Given the description of an element on the screen output the (x, y) to click on. 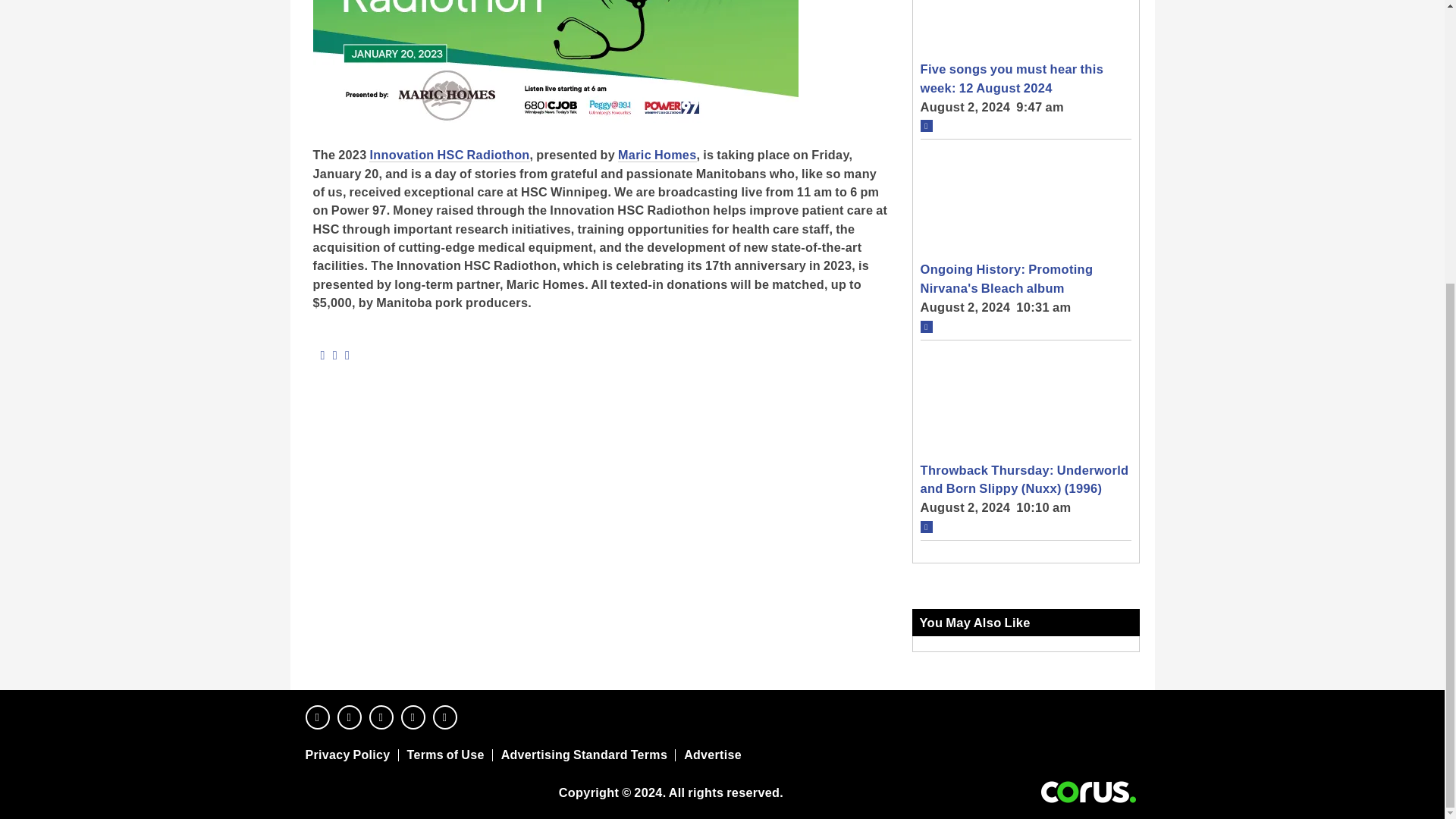
Corus (1088, 792)
Innovation HSC Radiothon (449, 155)
Maric Homes (657, 155)
